Given the description of an element on the screen output the (x, y) to click on. 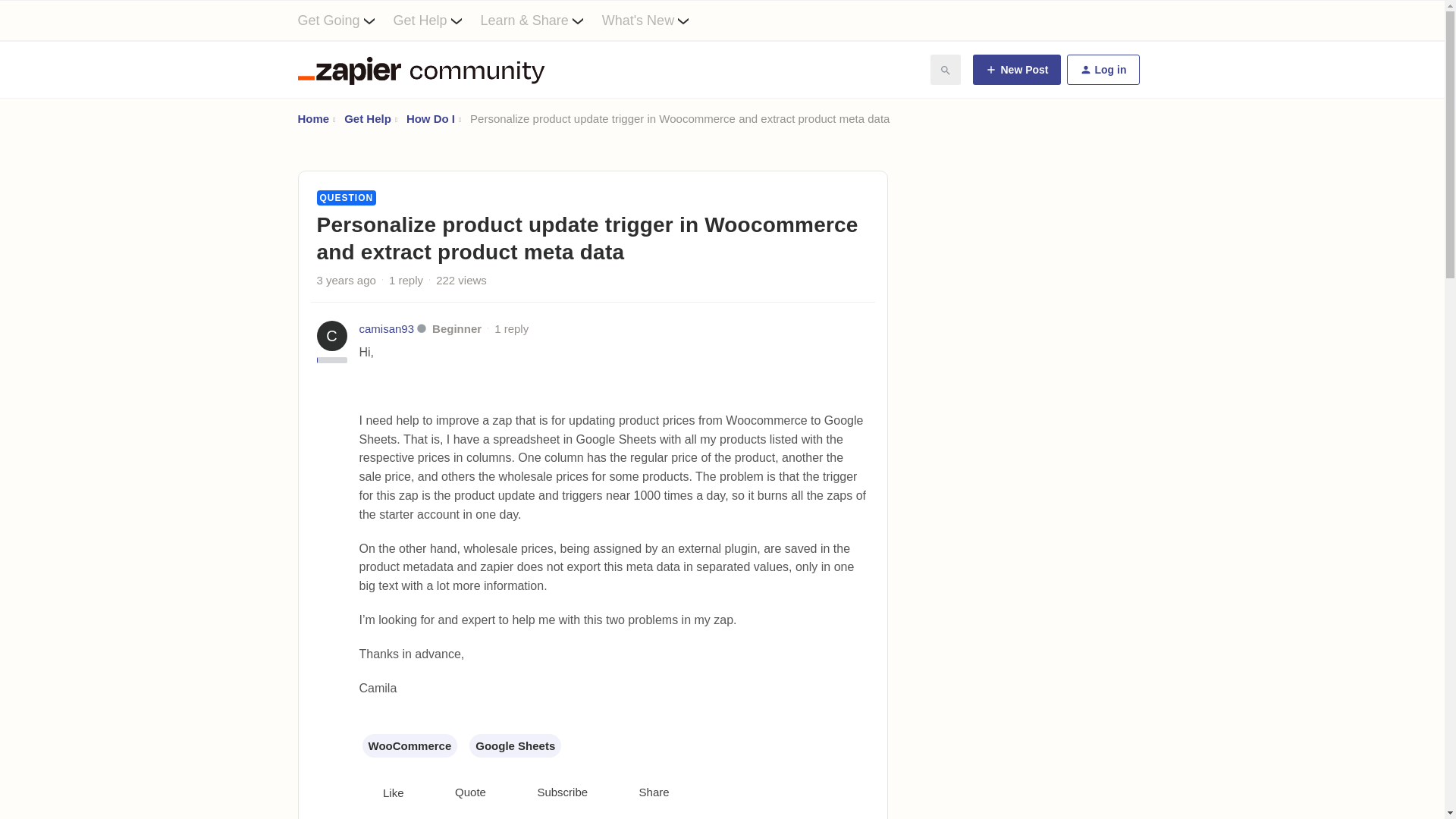
Get Help (367, 118)
What's New (654, 20)
Log in (1101, 69)
New Post (1015, 69)
New Post (1015, 69)
Beginner (456, 328)
Home (313, 118)
Get Help (436, 20)
Get Going (345, 20)
